Given the description of an element on the screen output the (x, y) to click on. 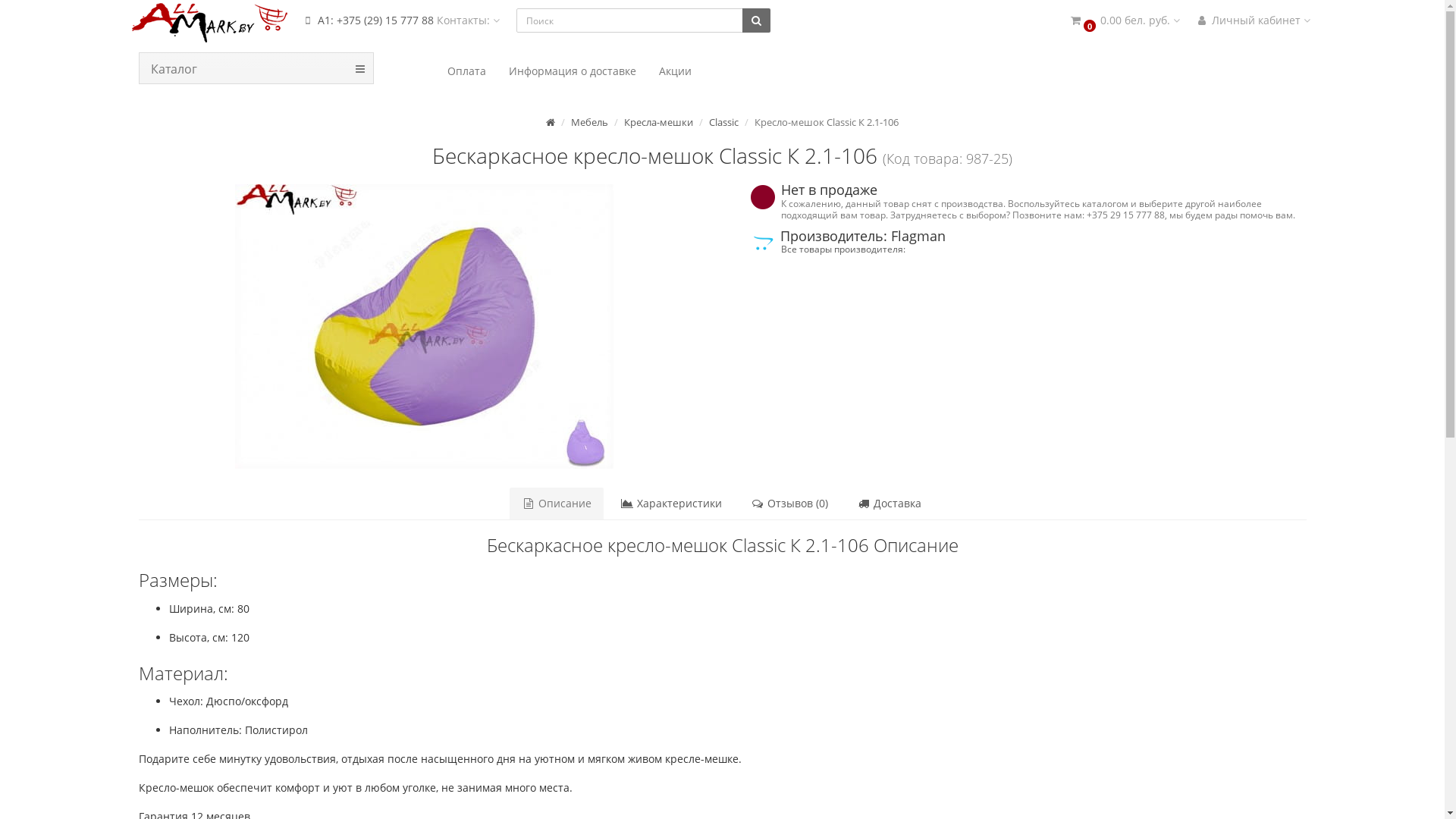
Flagman Element type: hover (761, 242)
Classic Element type: text (723, 121)
AllMark.by Element type: hover (211, 22)
